Given the description of an element on the screen output the (x, y) to click on. 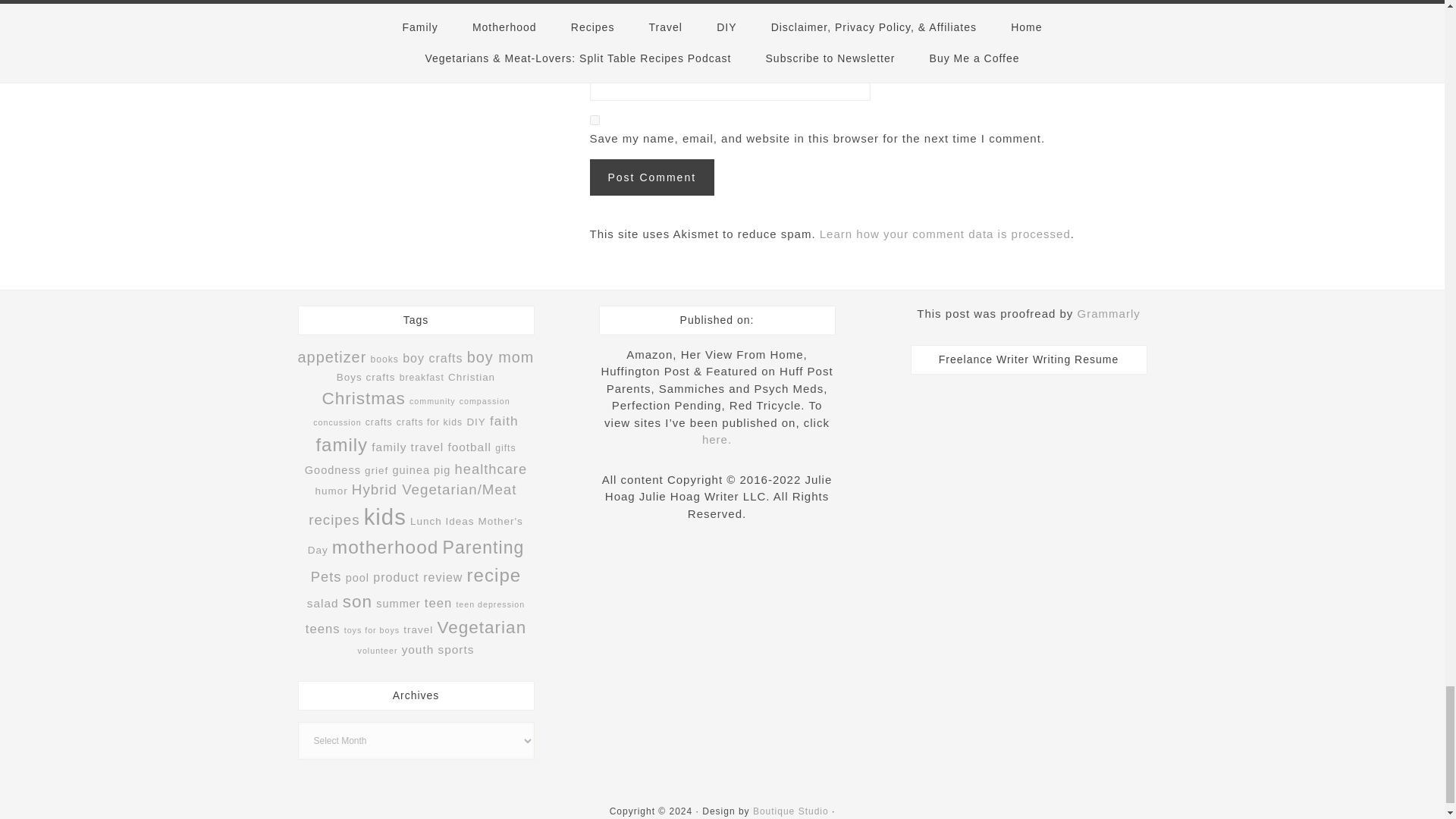
yes (594, 120)
Boutique Studio (790, 810)
Post Comment (651, 176)
Learn how your comment data is processed (944, 233)
Post Comment (651, 176)
